Given the description of an element on the screen output the (x, y) to click on. 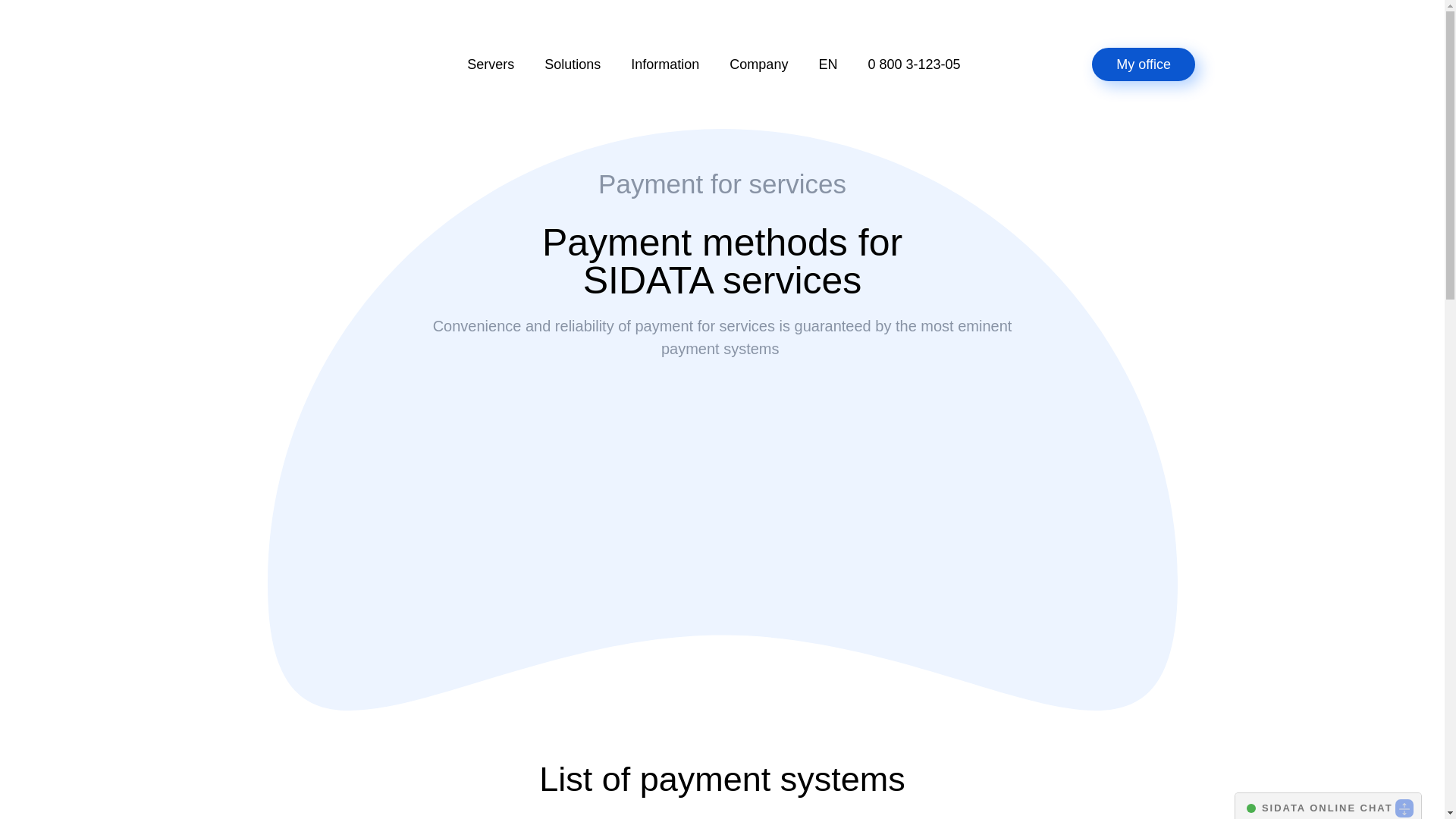
Solutions (572, 63)
Information (664, 63)
Payment Methods (721, 454)
EN (827, 63)
Servers (490, 63)
0 800 3-123-05 (913, 63)
Company (758, 63)
